Given the description of an element on the screen output the (x, y) to click on. 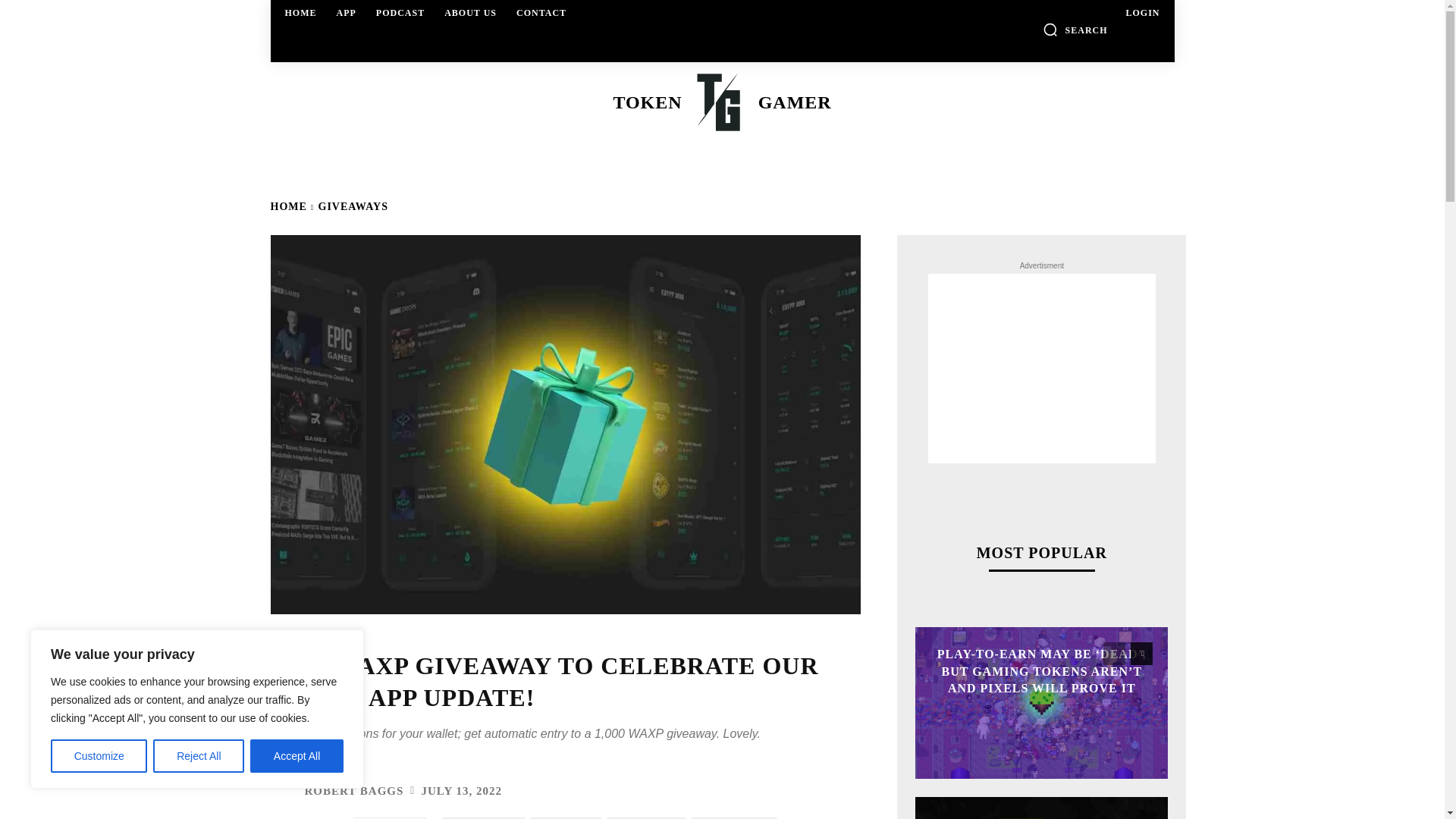
SEARCH (1075, 29)
CONTACT (540, 12)
Pinterest (646, 818)
WhatsApp (721, 102)
PODCAST (733, 818)
View all posts in Giveaways (400, 12)
Robert Baggs (353, 206)
Reject All (284, 790)
HOME (198, 756)
Twitter (301, 12)
Token Gamer (565, 818)
APP (720, 102)
Accept All (346, 12)
LOGIN (296, 756)
